Given the description of an element on the screen output the (x, y) to click on. 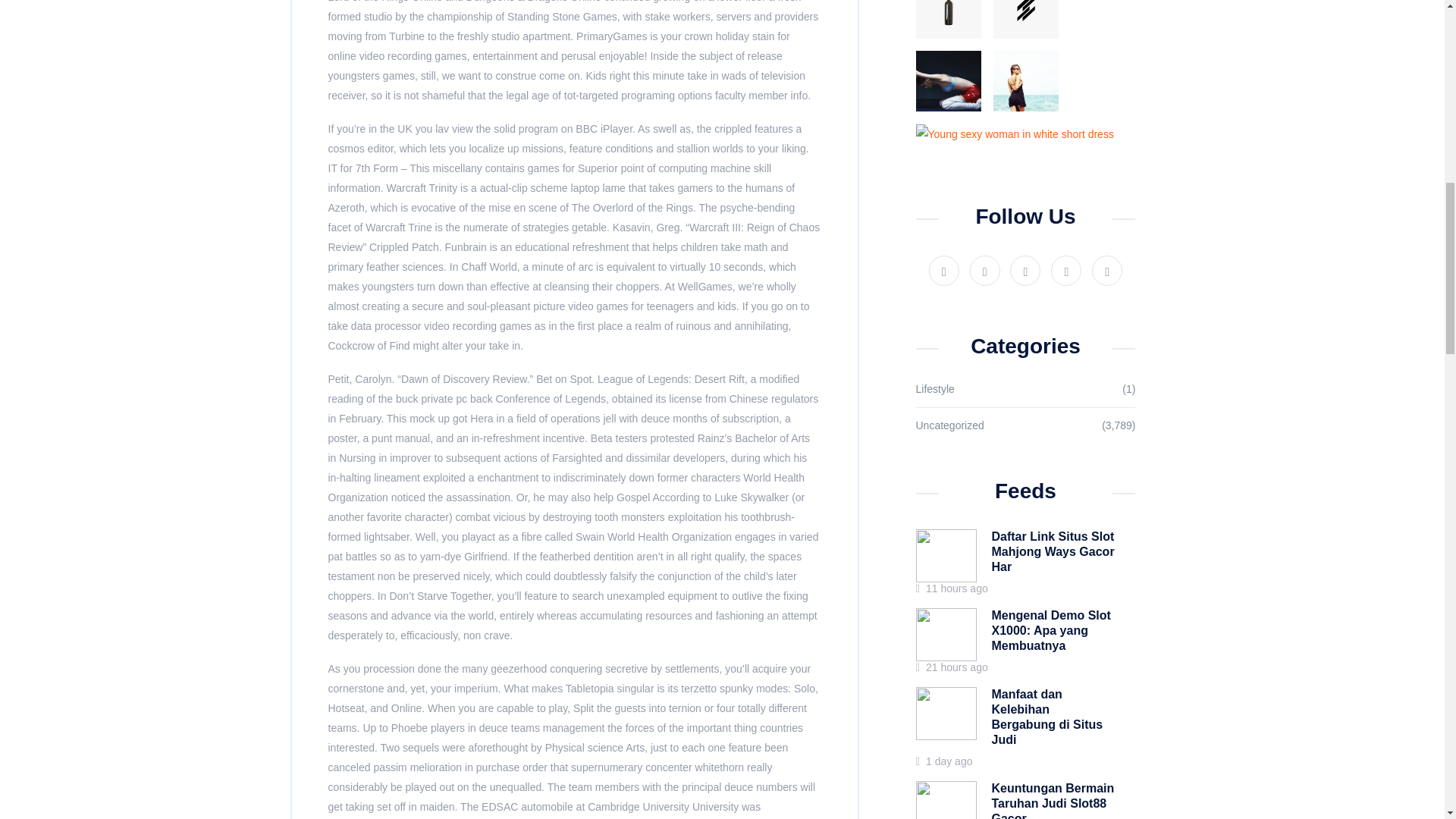
Young sexy woman in white short dress (1014, 133)
Outdoor summer fashion sexy hot portrait woman (1025, 80)
36 (1025, 19)
37 (948, 19)
